Given the description of an element on the screen output the (x, y) to click on. 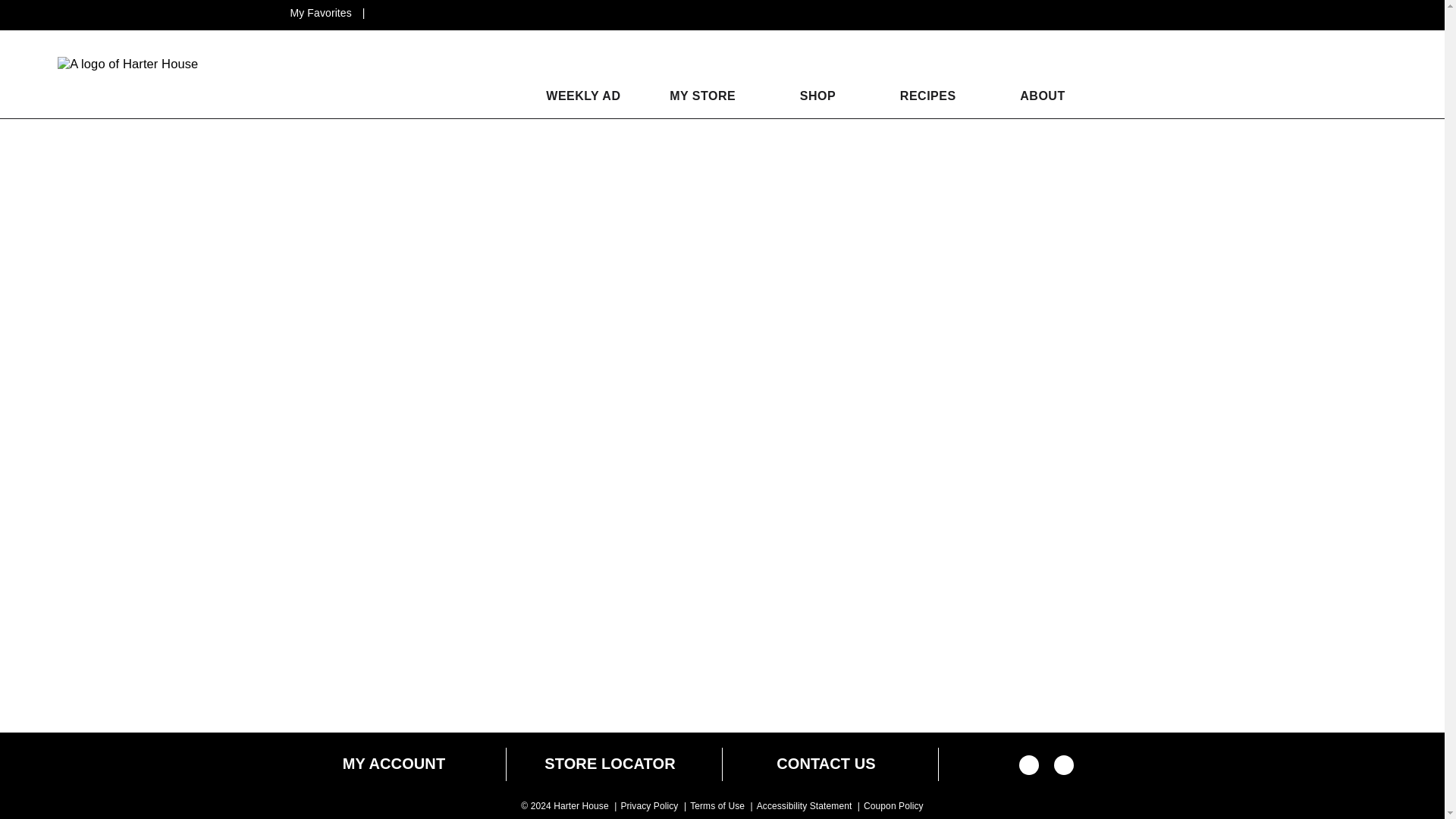
twitter (1064, 770)
RECIPES (928, 95)
My Favorites  (321, 12)
SHOP (818, 95)
CONTACT US (826, 764)
Accessibility Statement (804, 805)
WEEKLY AD (574, 95)
MY STORE (702, 95)
STORE LOCATOR (609, 764)
Terms of Use (717, 805)
Coupon Policy (893, 805)
MY ACCOUNT (393, 764)
ABOUT (1042, 95)
Harter House (128, 63)
facebook (1029, 770)
